Given the description of an element on the screen output the (x, y) to click on. 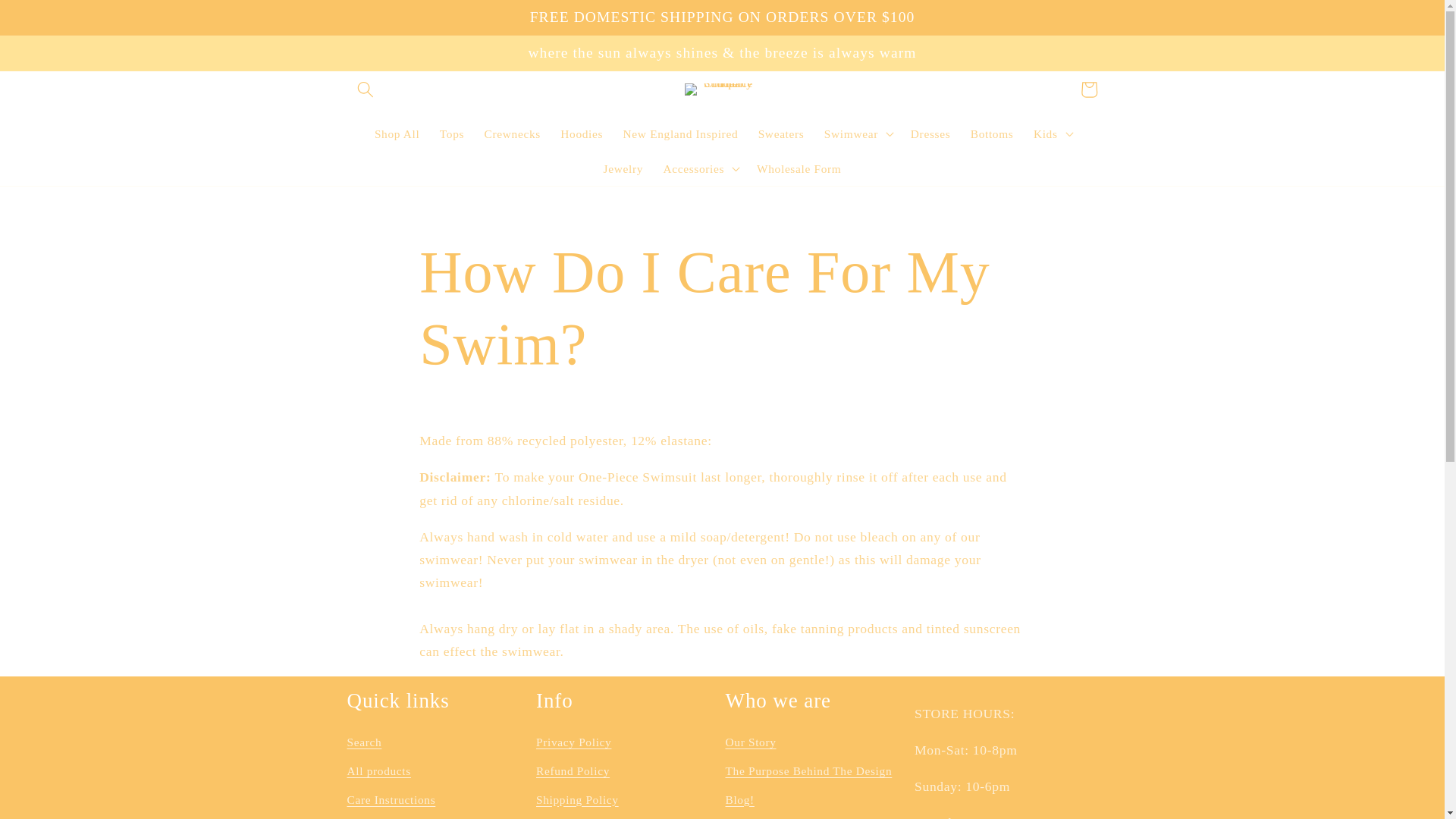
Hoodies (581, 134)
Shop All (397, 134)
Tops (451, 134)
Skip to content (51, 20)
Crewnecks (512, 134)
